Given the description of an element on the screen output the (x, y) to click on. 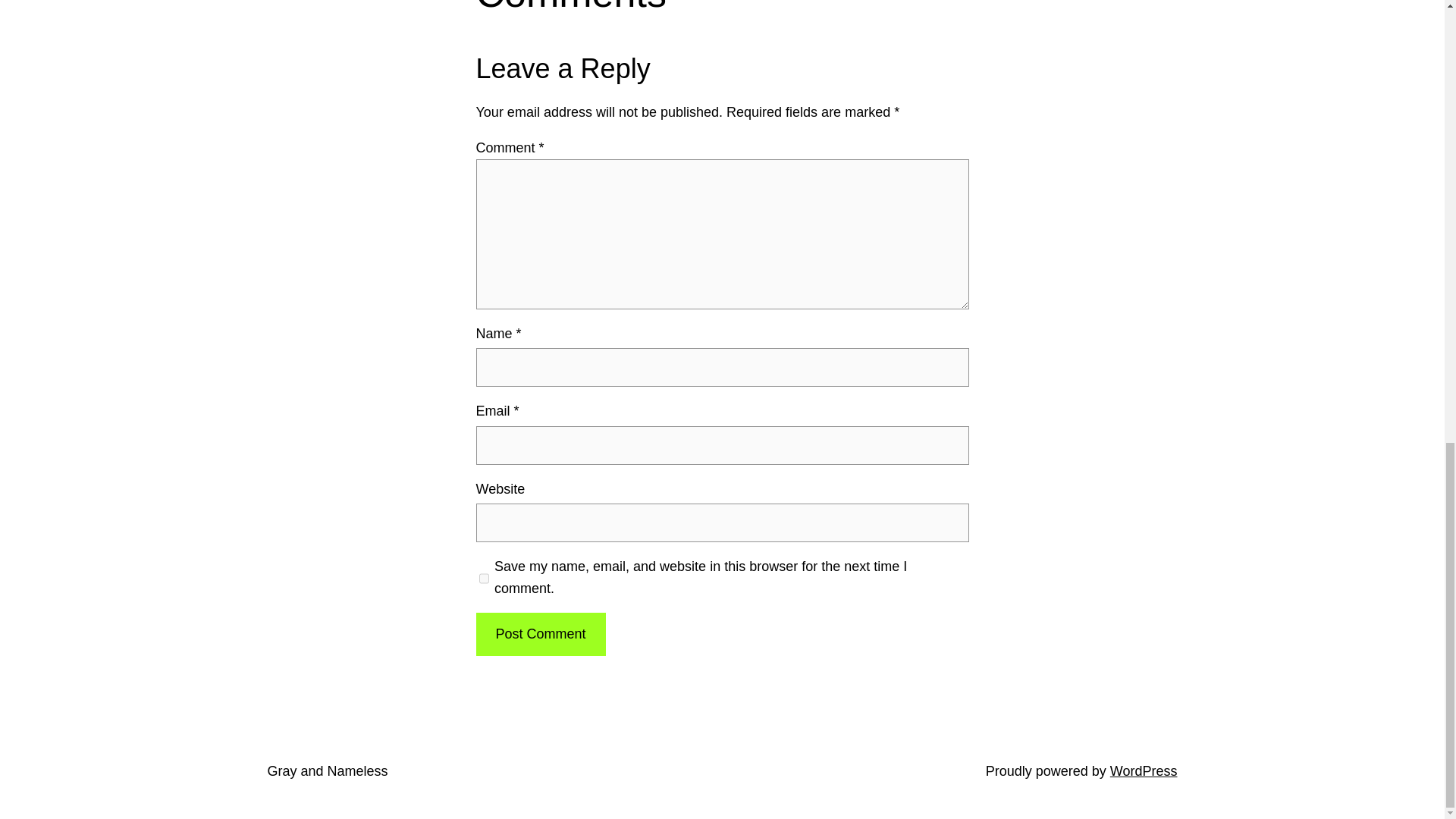
Post Comment (540, 634)
Post Comment (540, 634)
Gray and Nameless (326, 770)
WordPress (1143, 770)
